Given the description of an element on the screen output the (x, y) to click on. 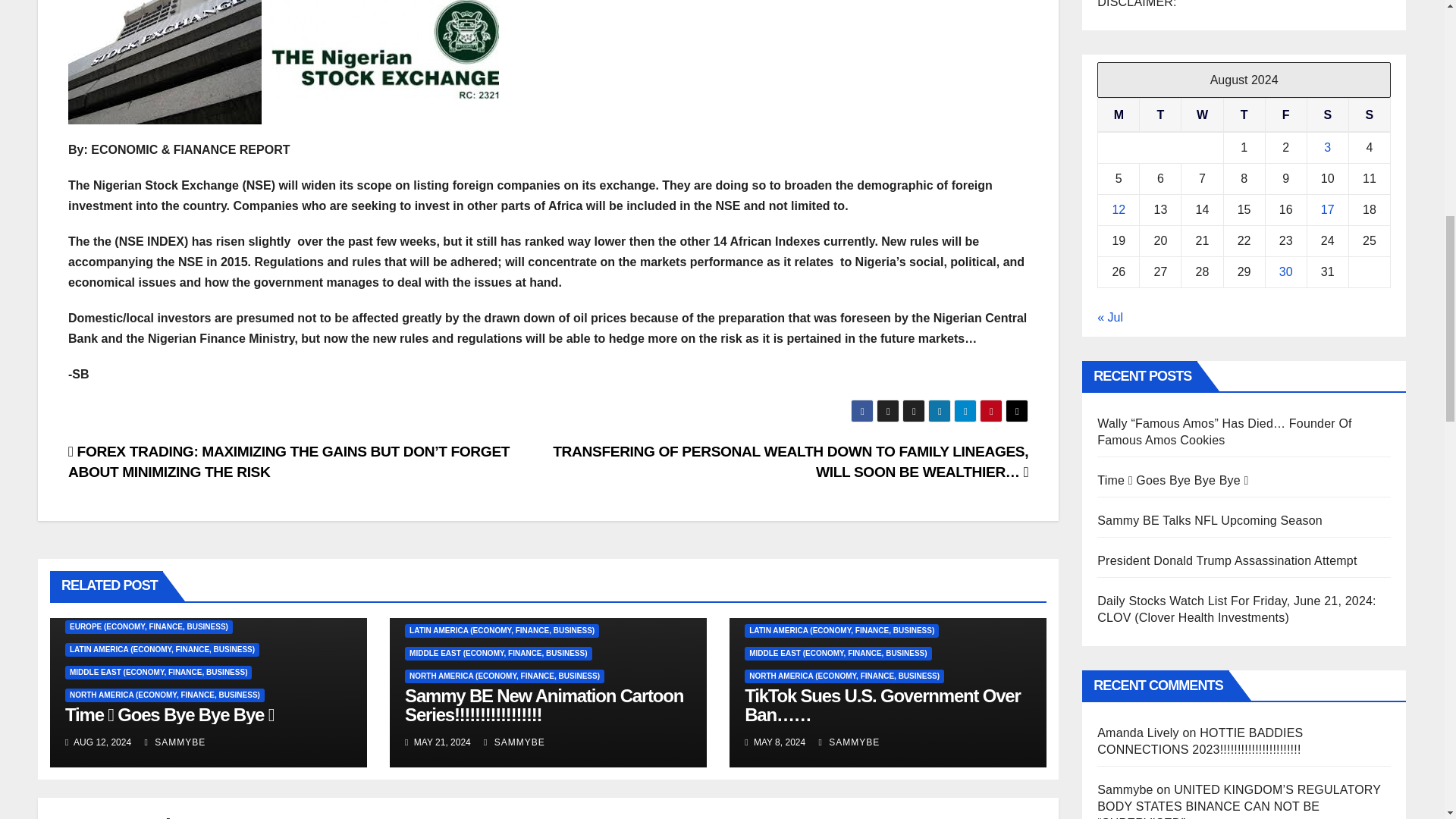
Tuesday (1160, 114)
Thursday (1244, 114)
Saturday (1327, 114)
Monday (1118, 114)
Wednesday (1201, 114)
Friday (1285, 114)
Sunday (1369, 114)
